Given the description of an element on the screen output the (x, y) to click on. 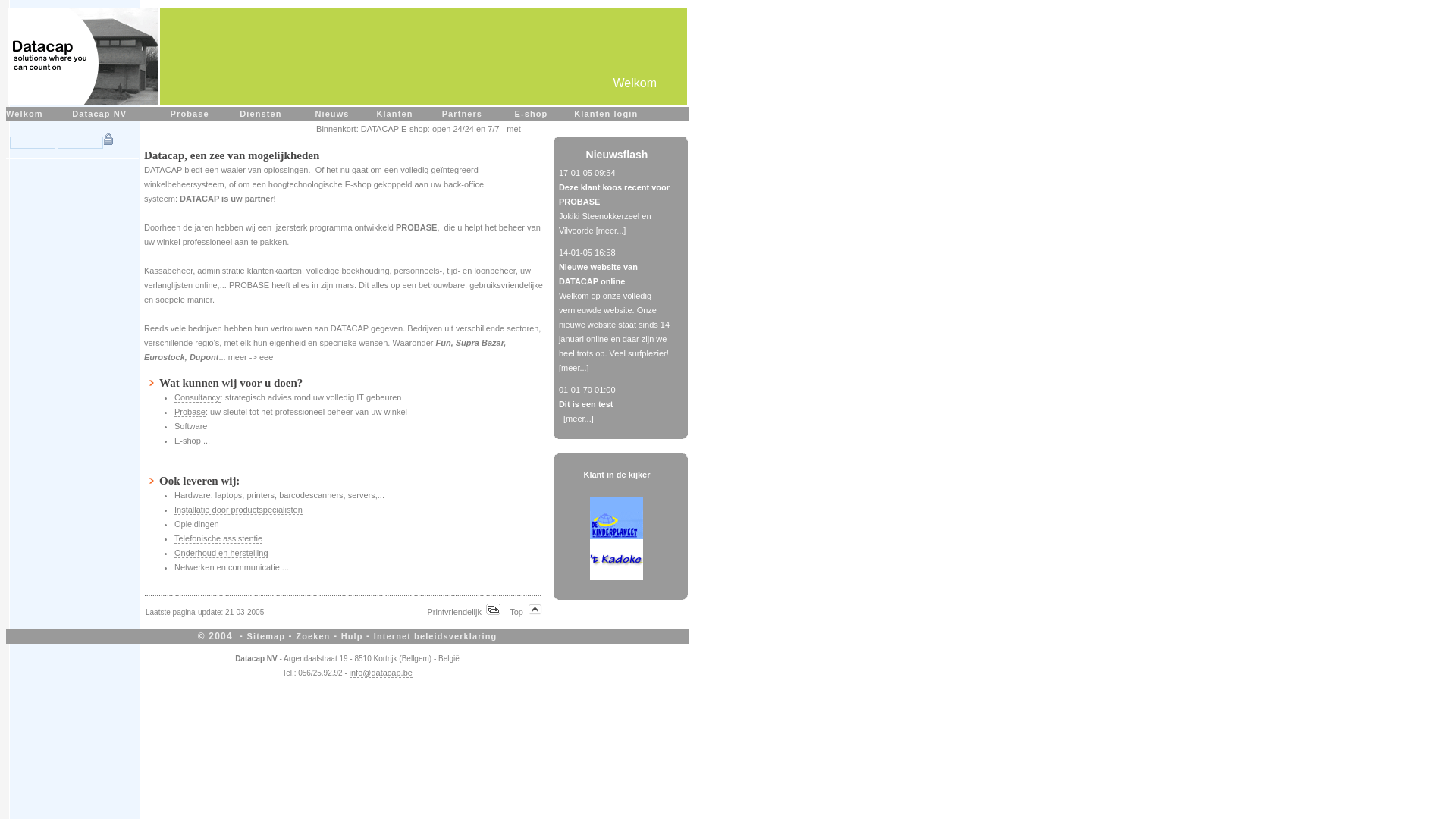
Installatie door productspecialisten Element type: text (238, 509)
Login Element type: hover (109, 138)
E-shop Element type: text (530, 114)
Zoeken Element type: text (312, 636)
Partners Element type: text (462, 114)
[meer...] Element type: text (578, 418)
Nieuws Element type: text (331, 114)
Internet beleidsverklaring Element type: text (434, 636)
Klanten Element type: text (394, 114)
Datacap NV Element type: text (99, 114)
pas Element type: hover (80, 142)
Telefonische assistentie Element type: text (218, 538)
info@datacap.be Element type: text (380, 672)
Onderhoud en herstelling Element type: text (221, 553)
[meer...] Element type: text (611, 230)
Klanten login Element type: text (605, 114)
Hulp Element type: text (352, 636)
Nieuwe website van DATACAP online Element type: text (597, 273)
nam Element type: hover (32, 142)
Top  Element type: text (525, 611)
meer -> Element type: text (242, 357)
Opleidingen Element type: text (196, 524)
Printvriendelijk  Element type: text (463, 611)
Probase Element type: text (189, 114)
Deze klant koos recent voor PROBASE Element type: text (613, 194)
[meer...] Element type: text (573, 367)
Hardware Element type: text (192, 495)
Welkom Element type: text (24, 114)
Dit is een test Element type: text (585, 403)
Sitemap Element type: text (266, 636)
Consultancy Element type: text (197, 397)
Probase Element type: text (189, 412)
Diensten Element type: text (260, 114)
